Given the description of an element on the screen output the (x, y) to click on. 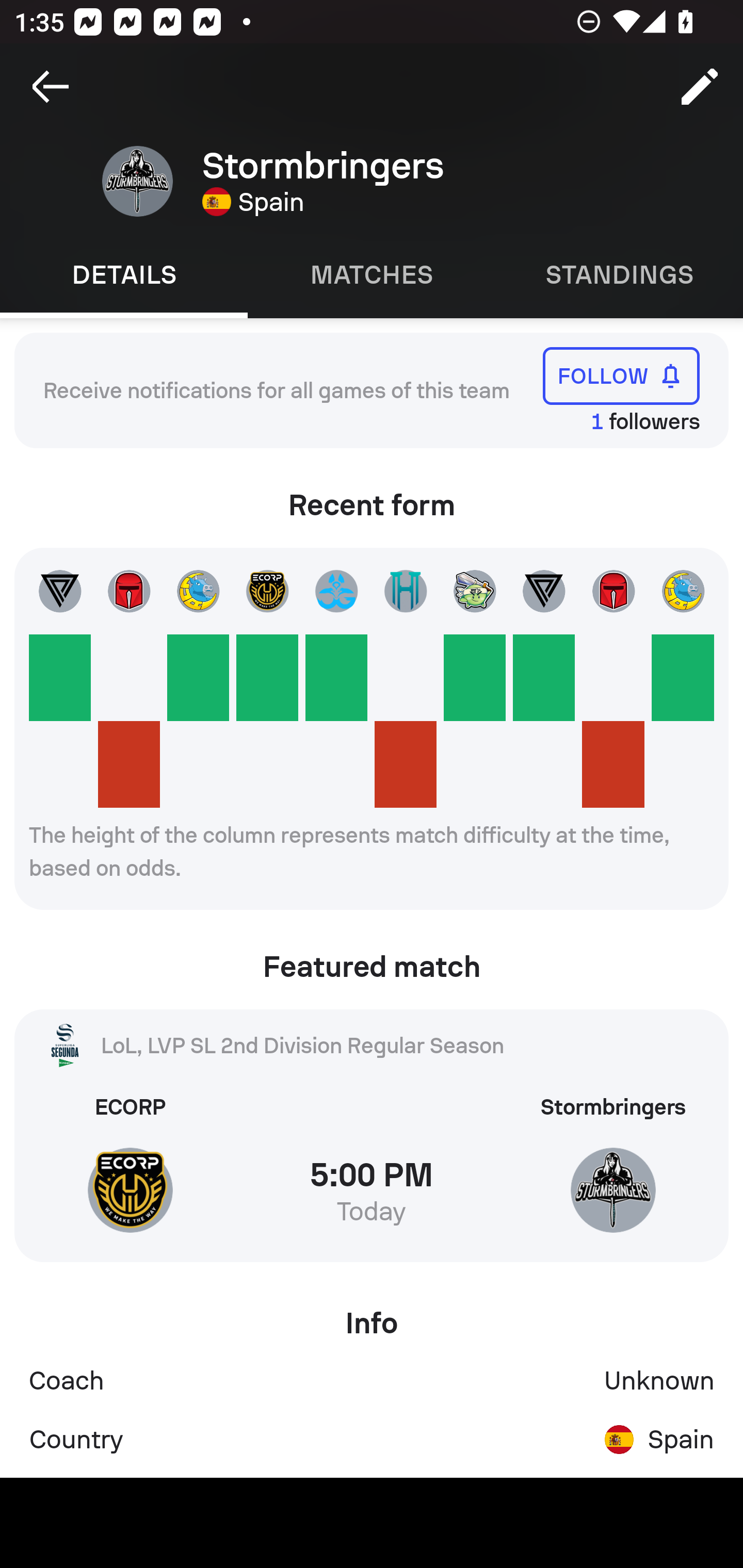
Navigate up (50, 86)
Edit (699, 86)
Matches MATCHES (371, 275)
Standings STANDINGS (619, 275)
FOLLOW (621, 375)
